Given the description of an element on the screen output the (x, y) to click on. 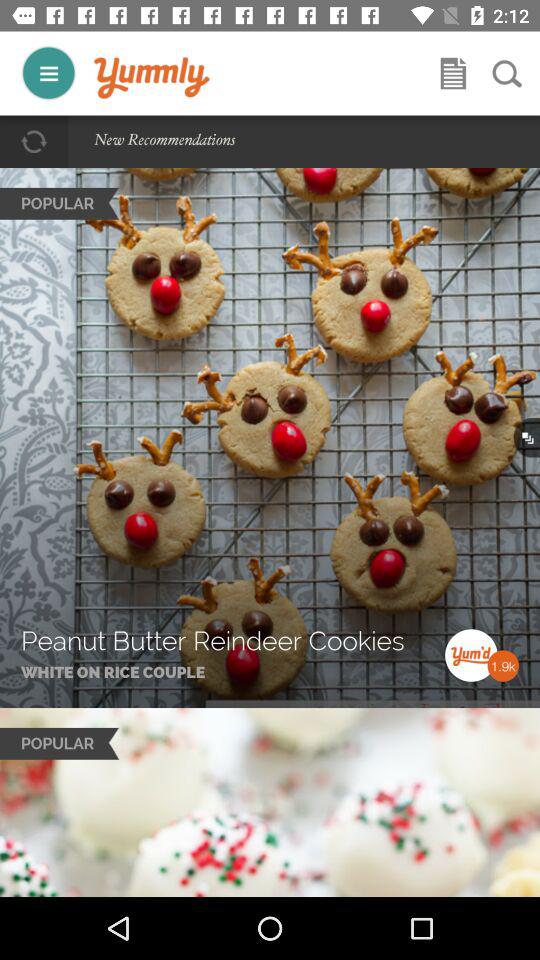
more option (48, 72)
